Given the description of an element on the screen output the (x, y) to click on. 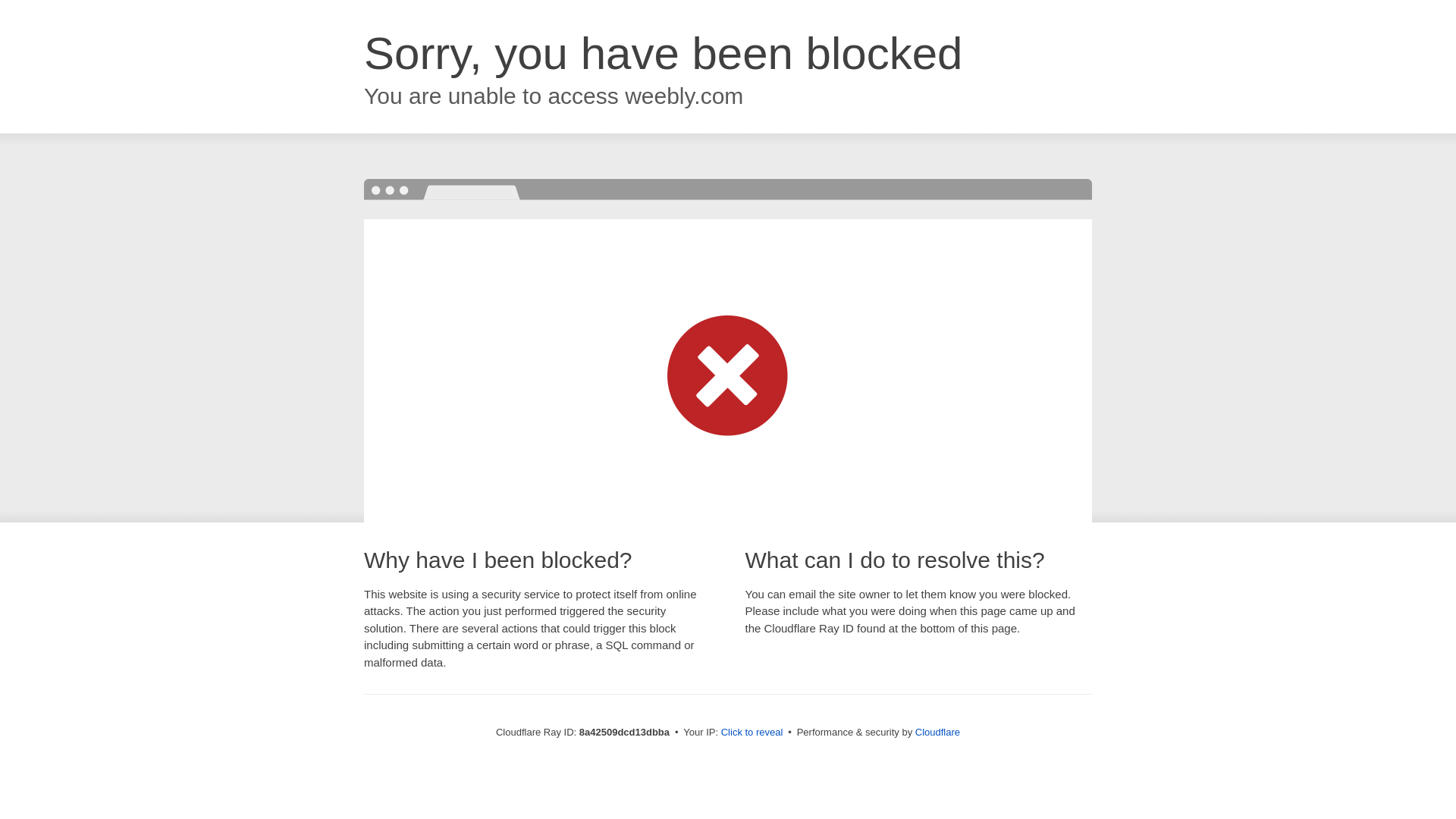
Click to reveal (751, 732)
Cloudflare (937, 731)
